Given the description of an element on the screen output the (x, y) to click on. 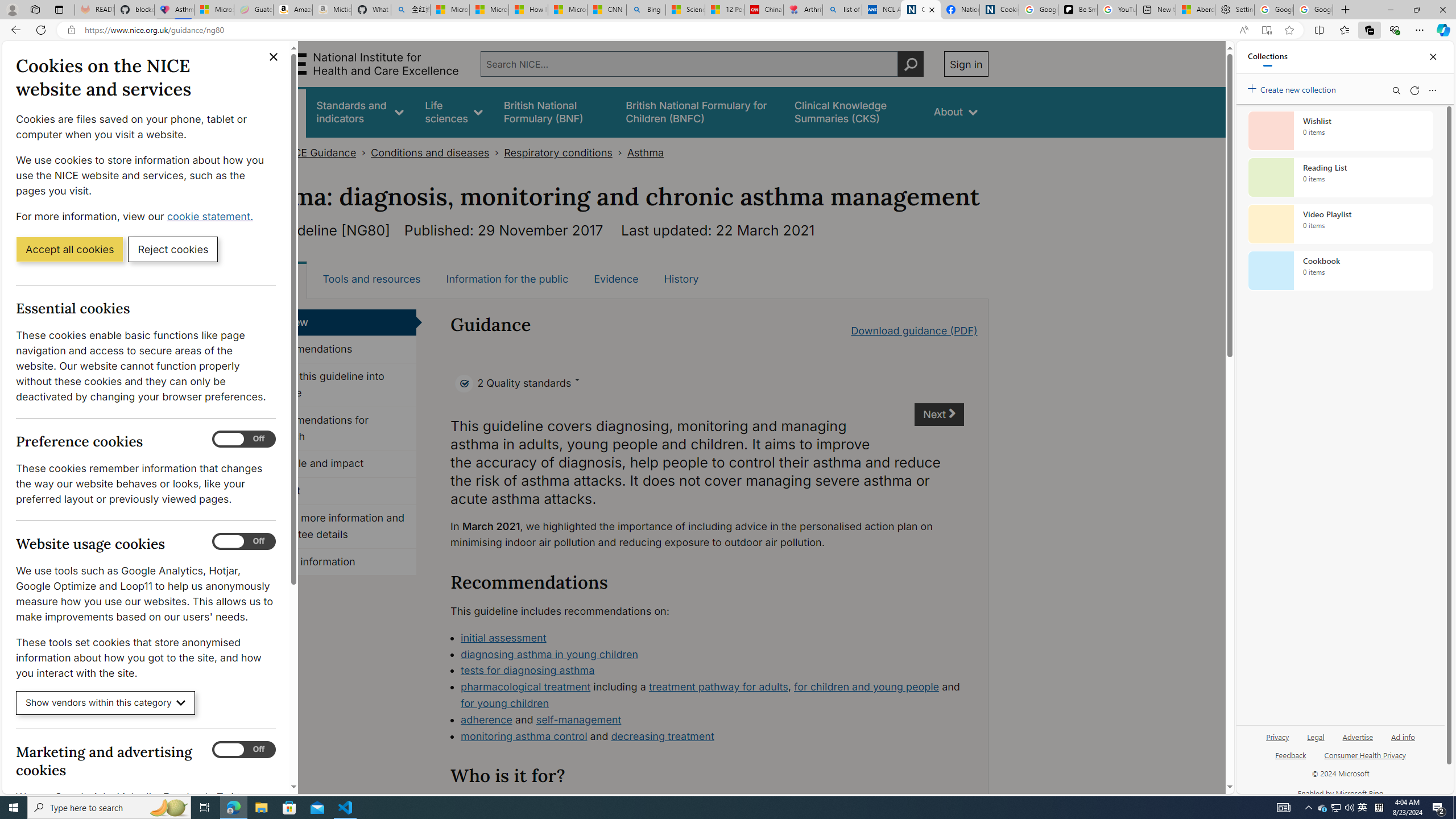
for young children (504, 702)
Respiratory conditions> (565, 152)
Reading List collection, 0 items (1339, 177)
monitoring asthma control (524, 735)
Finding more information and committee details (333, 526)
